Given the description of an element on the screen output the (x, y) to click on. 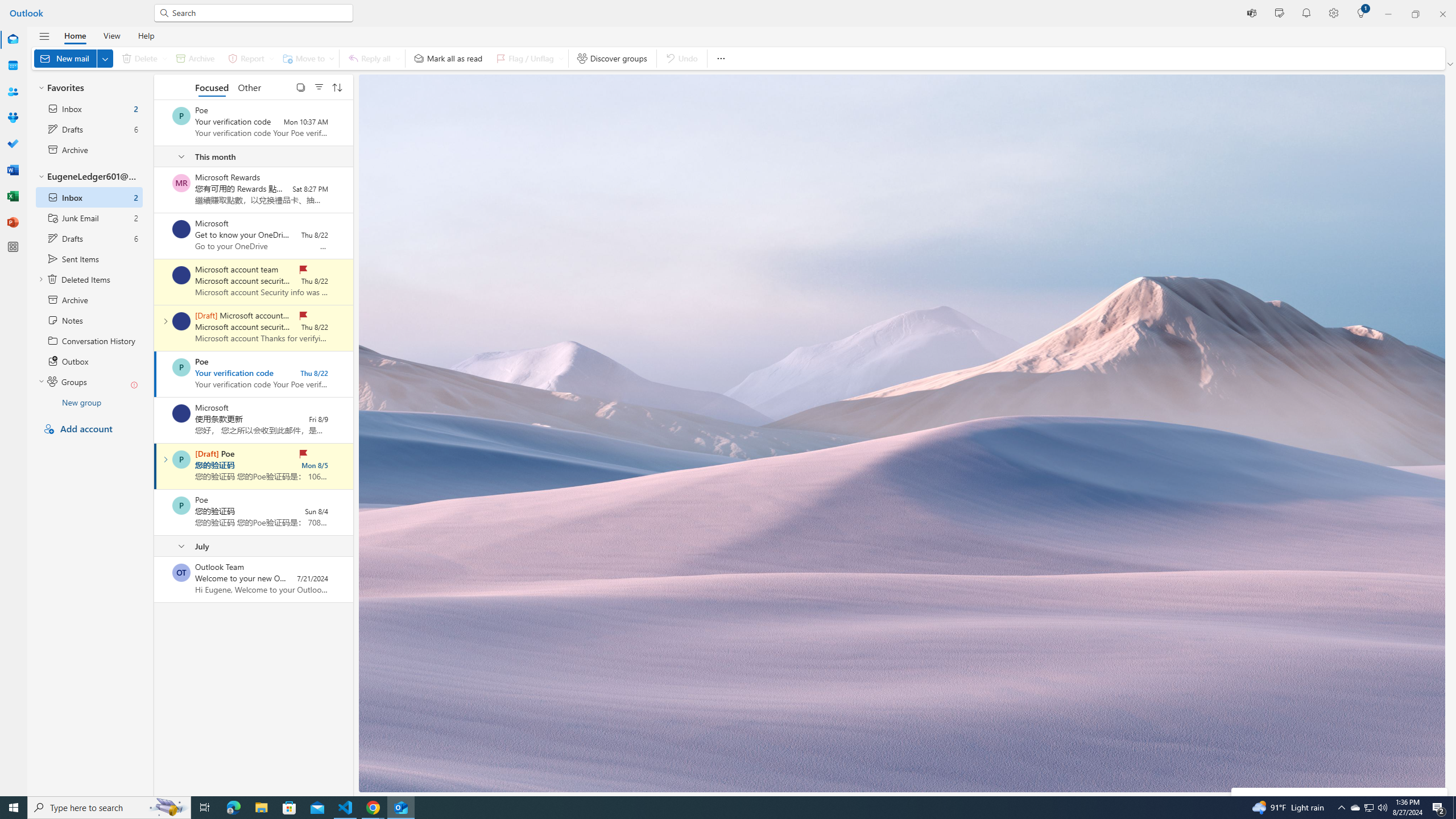
Mail (12, 39)
Mark as unread (154, 578)
Groups (12, 117)
Mark as read (154, 465)
Calendar (12, 65)
To Do (12, 143)
Select a conversation (180, 572)
Search for email, meetings, files and more. (258, 12)
Expand to see flag options (561, 58)
Report (248, 58)
New mail (73, 58)
